Given the description of an element on the screen output the (x, y) to click on. 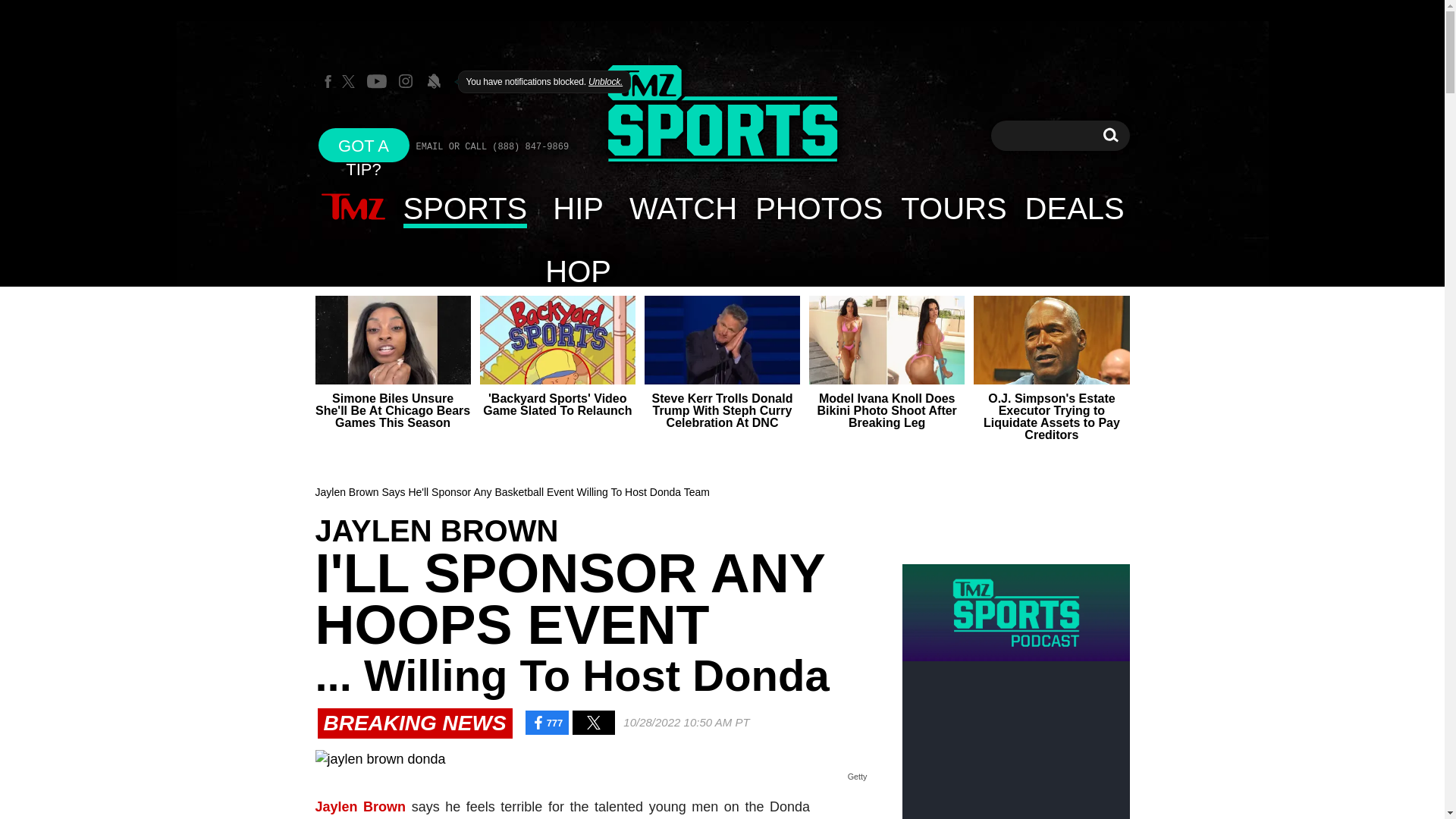
NEWS (353, 207)
DEALS (1075, 207)
TOURS (952, 207)
GOT A TIP? (363, 144)
Search (1110, 134)
PHOTOS (818, 207)
SPORTS (465, 207)
TMZ Sports (722, 115)
TMZ Sports (722, 113)
